Given the description of an element on the screen output the (x, y) to click on. 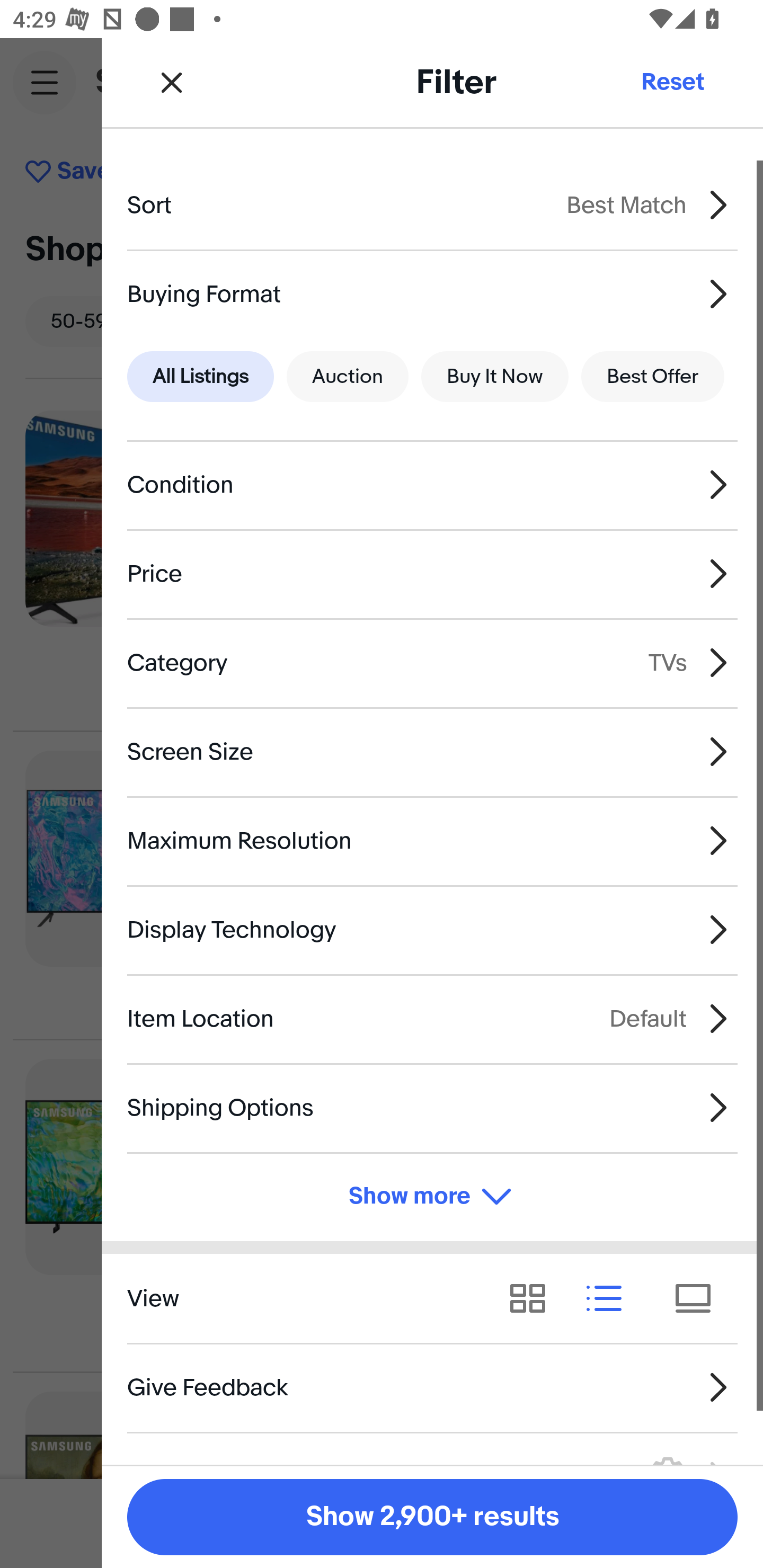
Close Filter (171, 81)
Reset (672, 81)
Buying Format (432, 293)
All Listings (200, 376)
Auction (347, 376)
Buy It Now (494, 376)
Best Offer (652, 376)
Condition (432, 484)
Price (432, 573)
Category TVs (432, 662)
Screen Size (432, 751)
Maximum Resolution (432, 840)
Display Technology (432, 929)
Item Location Default (432, 1018)
Shipping Options (432, 1107)
Show more (432, 1196)
View results as grid (533, 1297)
View results as list (610, 1297)
View results as tiles (699, 1297)
Show 2,900+ results (432, 1516)
